Given the description of an element on the screen output the (x, y) to click on. 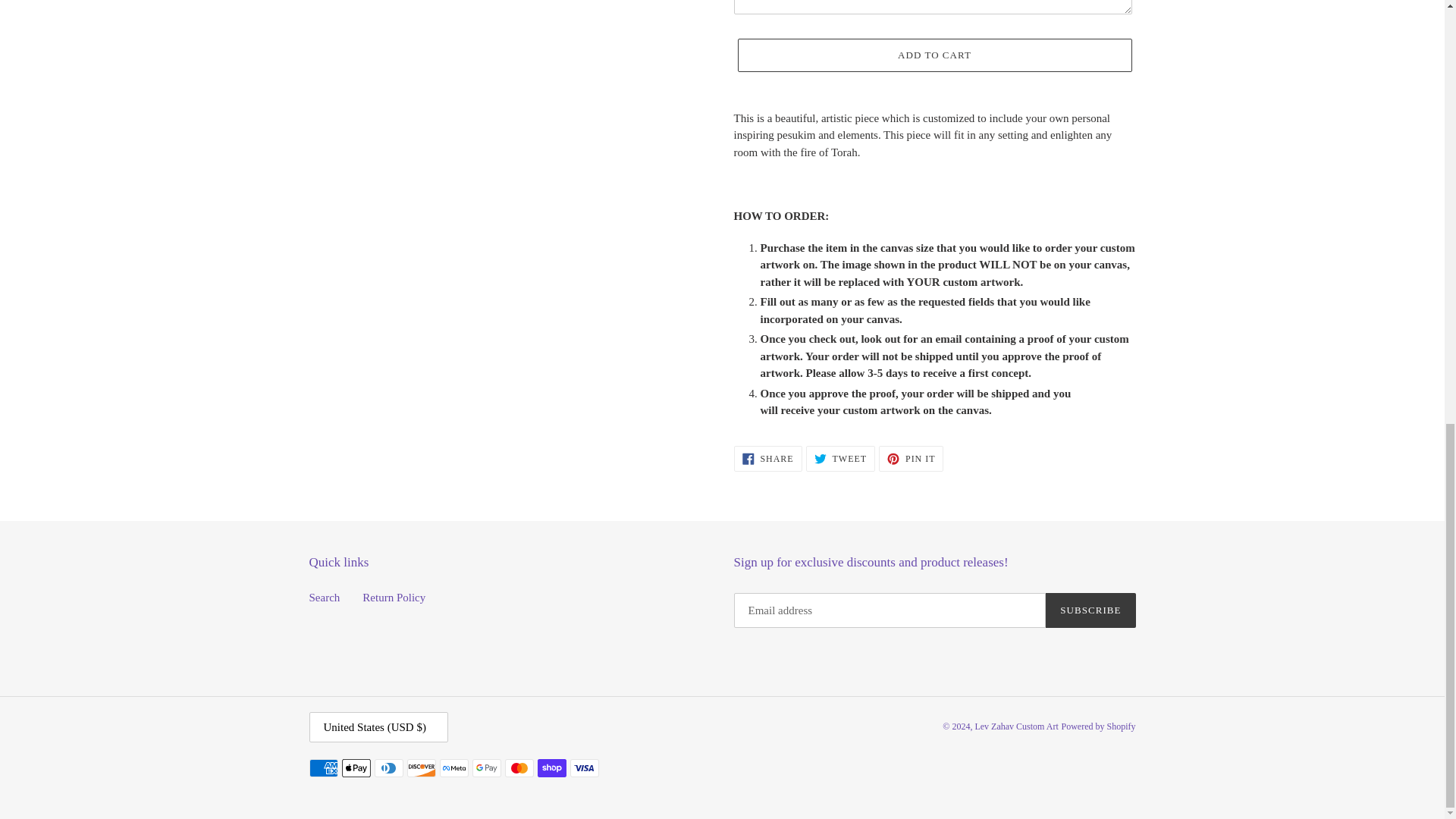
Search (324, 597)
ADD TO CART (767, 458)
SUBSCRIBE (933, 55)
Return Policy (840, 458)
